Given the description of an element on the screen output the (x, y) to click on. 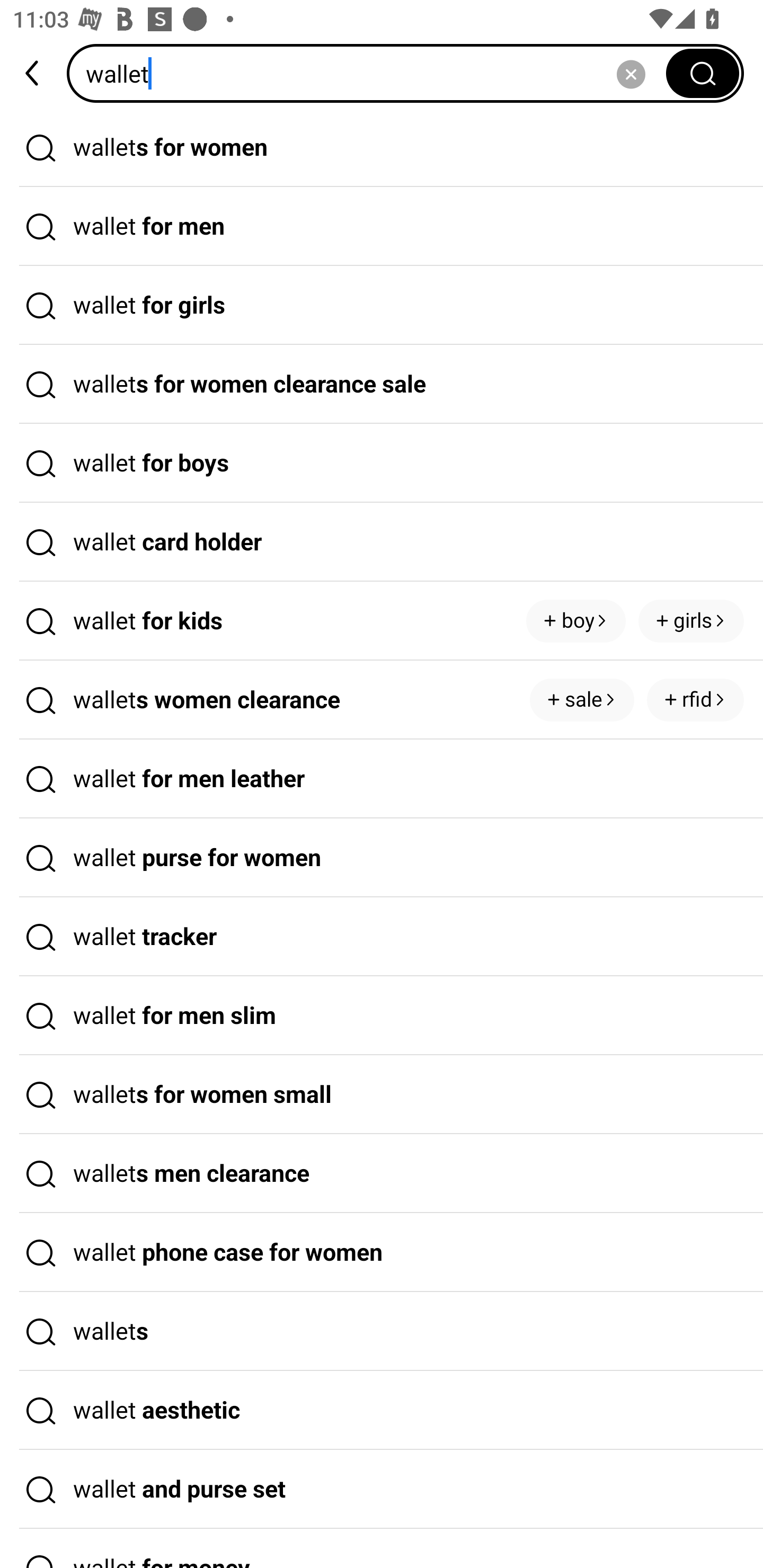
back (33, 72)
wallet (372, 73)
Delete search history (630, 73)
wallets for women (381, 147)
wallet for men (381, 226)
wallet for girls (381, 305)
wallets for women clearance sale (381, 383)
wallet for boys (381, 463)
wallet card holder (381, 542)
wallet for kids boy girls (381, 620)
boy (575, 620)
girls (690, 620)
wallets women clearance sale rfid (381, 700)
sale (581, 699)
rfid (695, 699)
wallet for men leather (381, 779)
wallet purse for women (381, 857)
wallet tracker (381, 936)
wallet for men slim (381, 1015)
wallets for women small (381, 1094)
wallets men clearance (381, 1173)
wallet phone case for women (381, 1252)
wallets (381, 1331)
wallet aesthetic (381, 1410)
wallet and purse set (381, 1489)
